Given the description of an element on the screen output the (x, y) to click on. 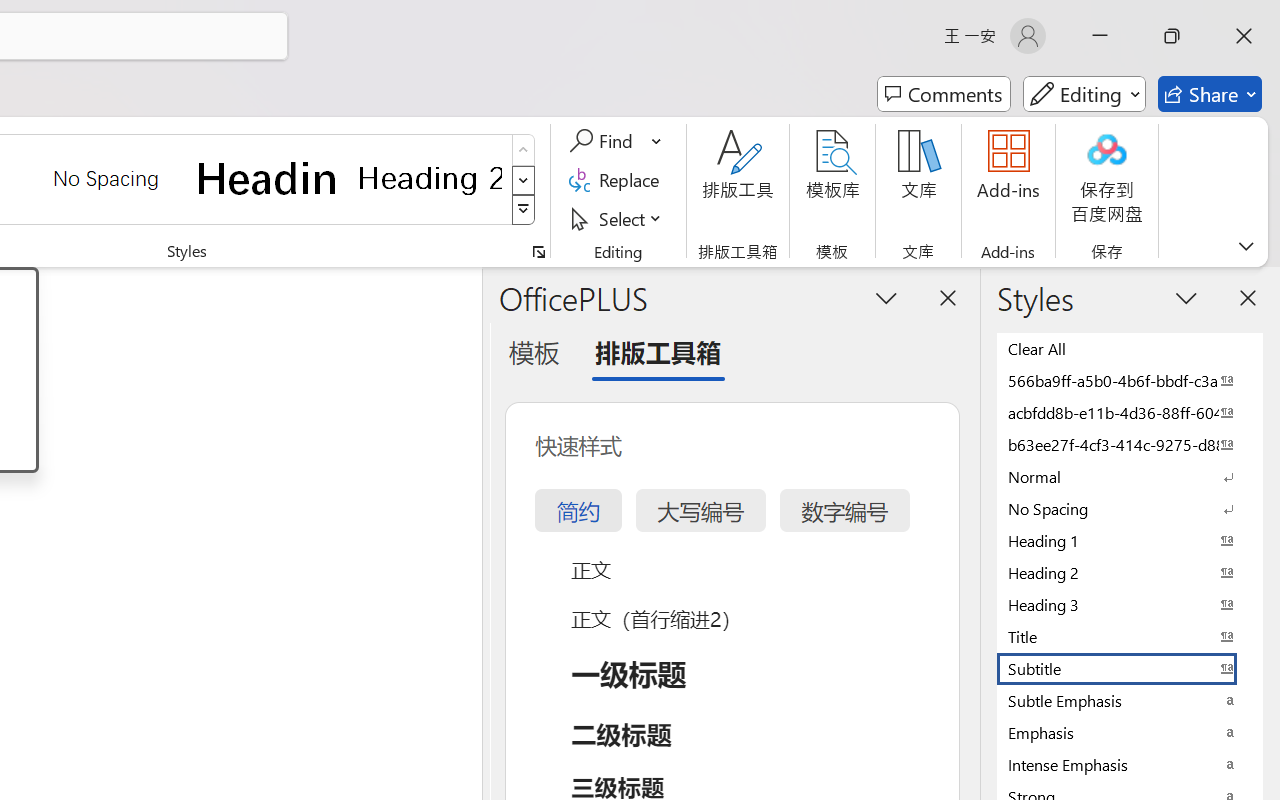
Clear All (1130, 348)
Emphasis (1130, 732)
Minimize (1099, 36)
Select (618, 218)
Normal (1130, 476)
Heading 1 (267, 178)
Row Down (523, 180)
